Given the description of an element on the screen output the (x, y) to click on. 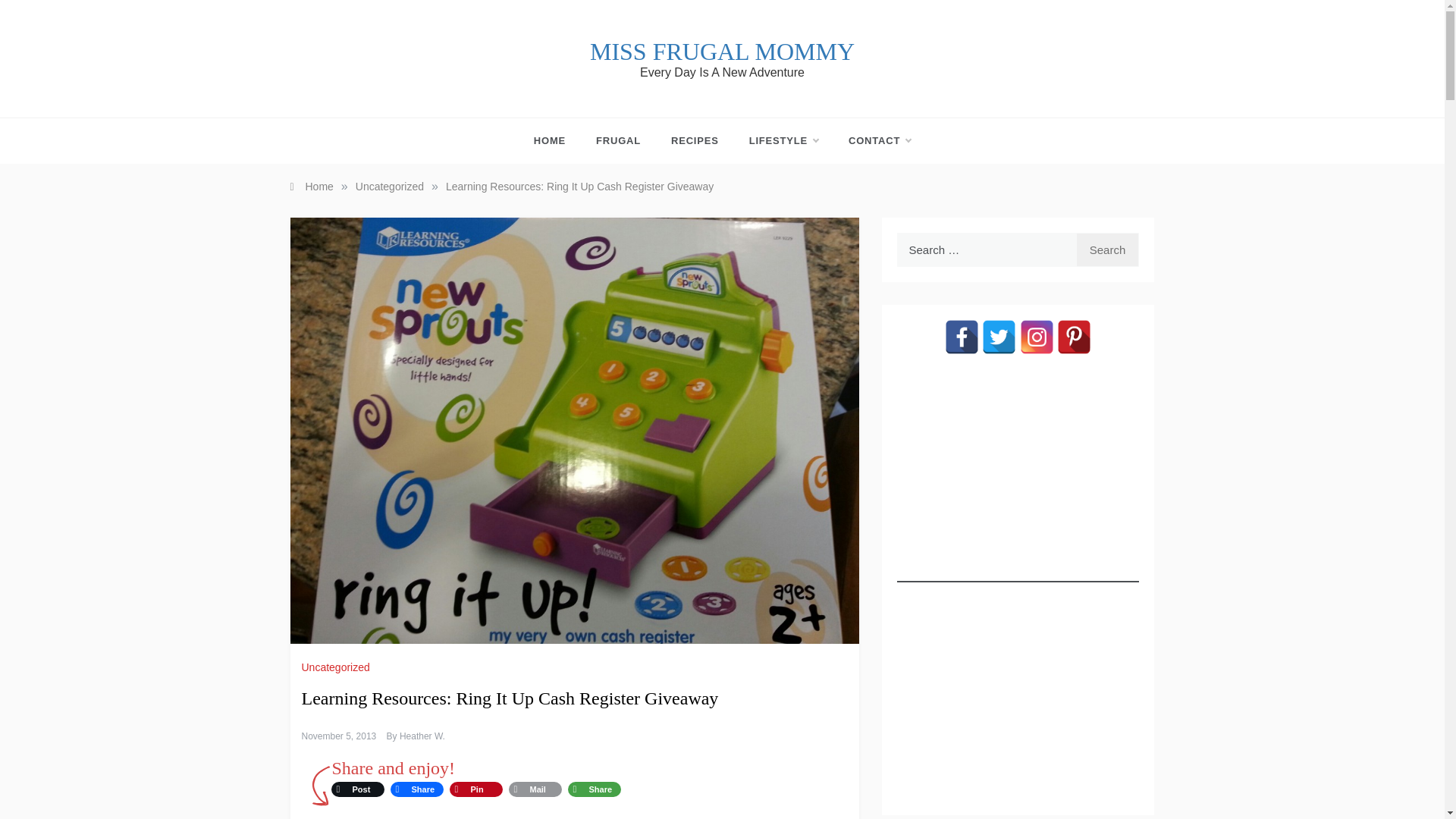
November 5, 2013 (339, 736)
Advertisement (1017, 687)
Facebook (416, 789)
HOME (557, 140)
Heather W. (421, 736)
Search (1107, 249)
More Options (593, 789)
Pinterest (475, 789)
Learning Resources: Ring It Up Cash Register Giveaway (579, 186)
LIFESTYLE (782, 140)
Uncategorized (337, 666)
Twitter (998, 336)
RECIPES (694, 140)
FRUGAL (618, 140)
Pinterest (1073, 336)
